Given the description of an element on the screen output the (x, y) to click on. 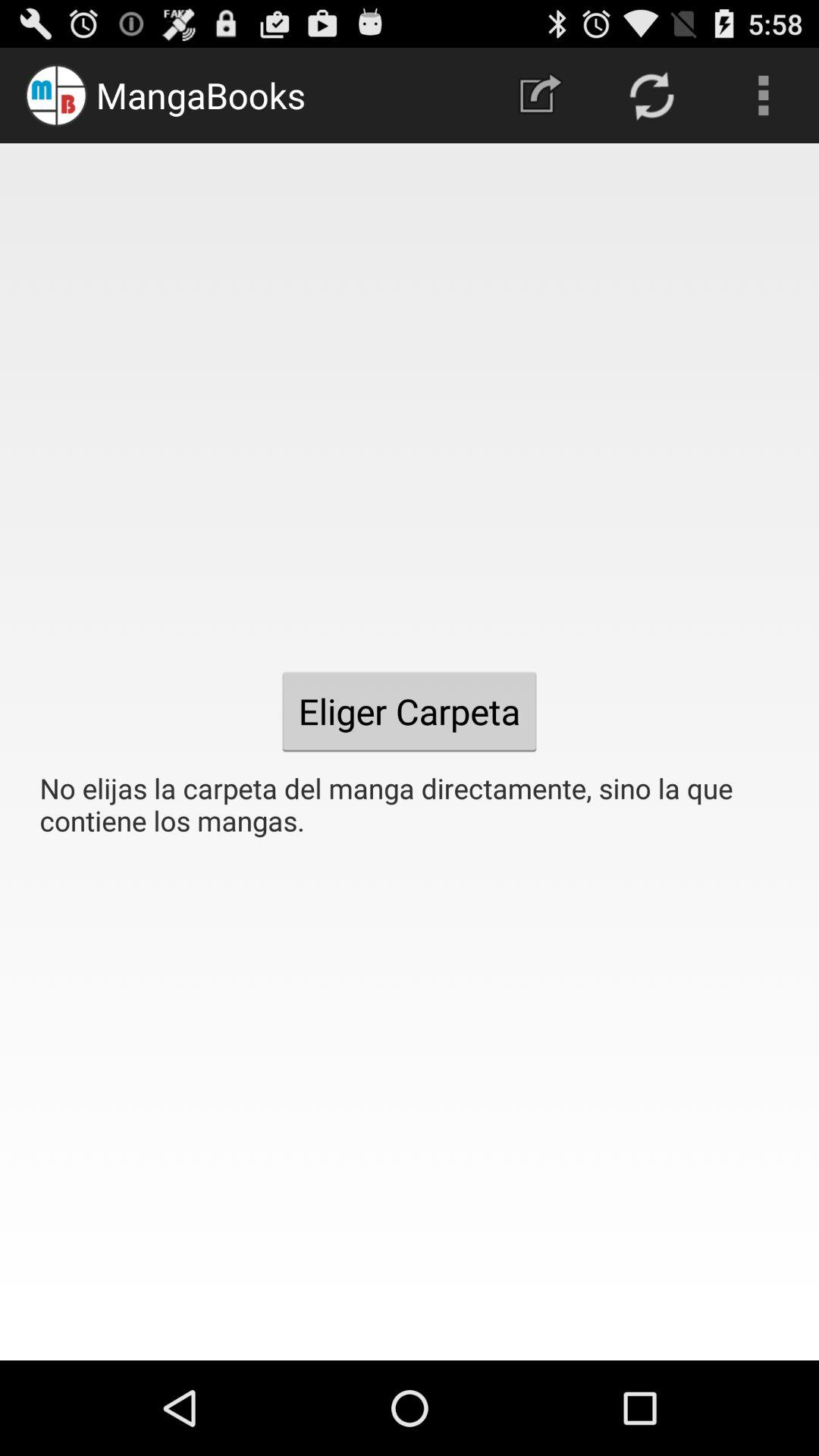
choose icon next to mangabooks icon (540, 95)
